Given the description of an element on the screen output the (x, y) to click on. 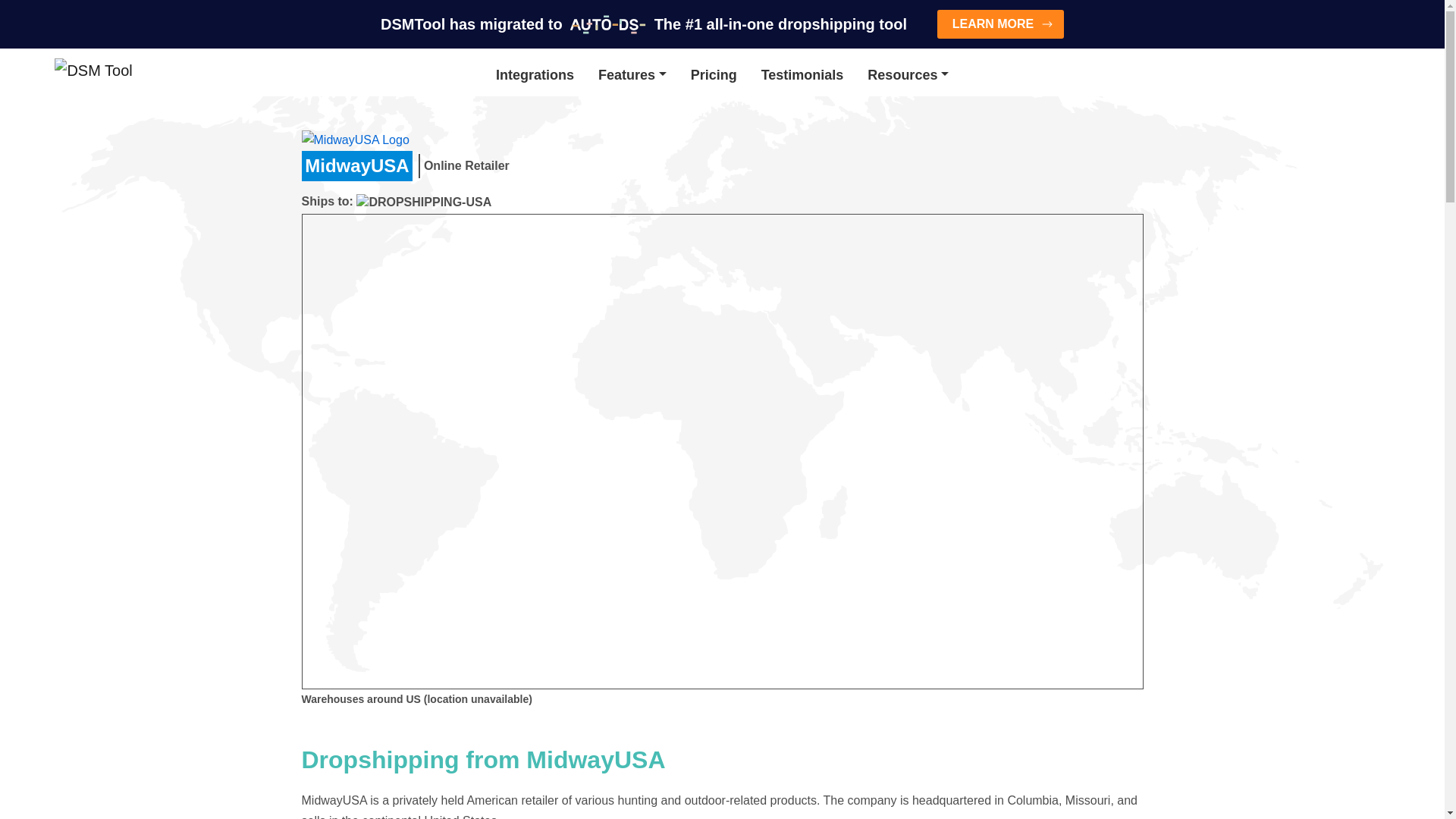
Integrations (534, 75)
DROPSHIPPING-USA (424, 202)
Testimonials (802, 75)
LEARN MORE (1000, 23)
Pricing (713, 75)
Resources (907, 75)
MidwayUSA Logo (376, 140)
Features (632, 75)
